Given the description of an element on the screen output the (x, y) to click on. 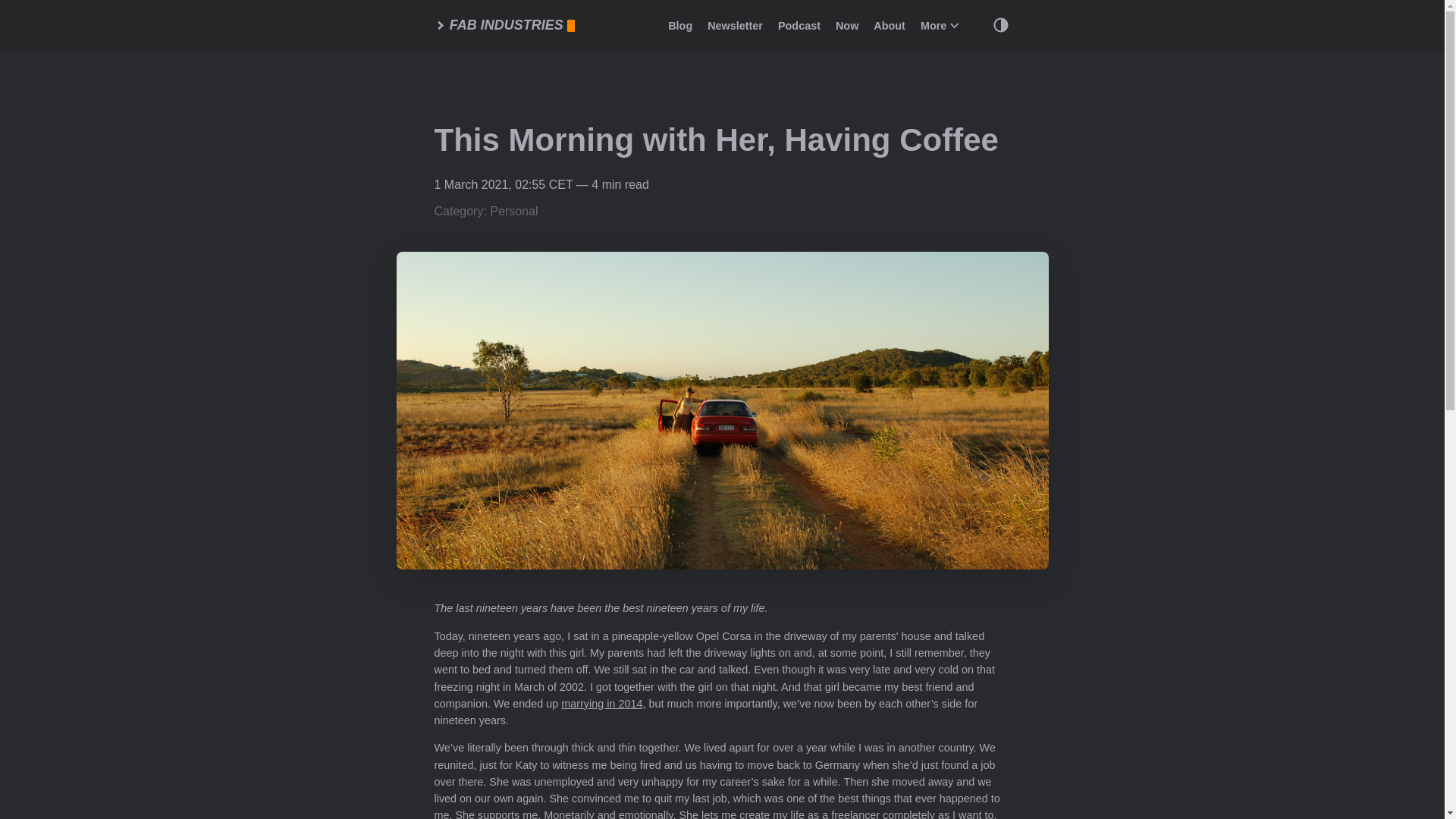
Podcast (799, 25)
FAB INDUSTRIES (503, 25)
This Morning with Her, Having Coffee (715, 140)
About (889, 25)
Newsletter (734, 25)
marrying in 2014 (601, 703)
Now (847, 25)
Blog (680, 25)
Personal (513, 210)
